Given the description of an element on the screen output the (x, y) to click on. 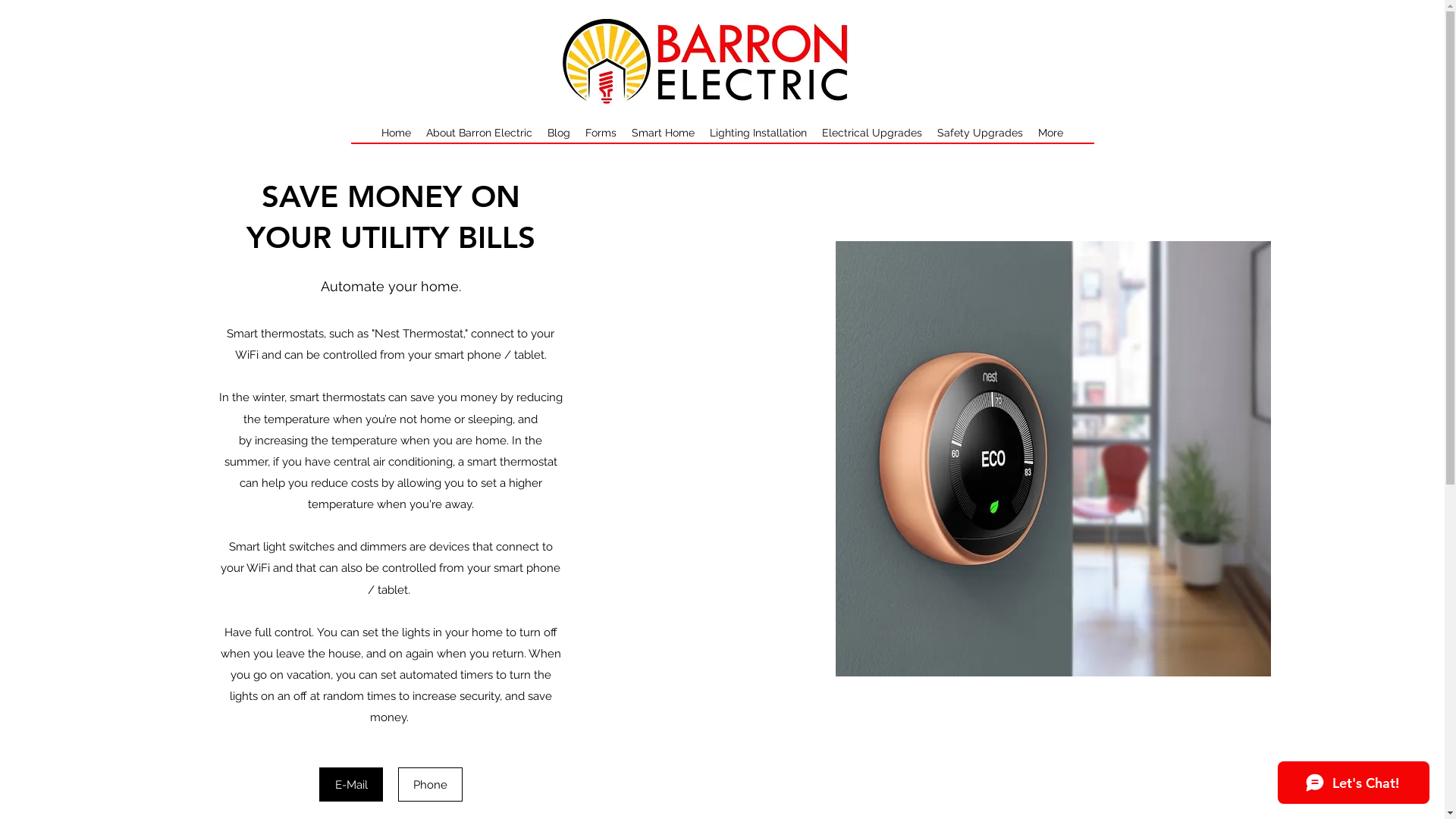
Safety Upgrades Element type: text (979, 132)
Home Element type: text (395, 132)
Blog Element type: text (558, 132)
Electrical Upgrades Element type: text (871, 132)
Phone Element type: text (430, 784)
E-Mail Element type: text (350, 784)
Lighting Installation Element type: text (758, 132)
Smart Home Element type: text (663, 132)
Forms Element type: text (600, 132)
About Barron Electric Element type: text (478, 132)
